Given the description of an element on the screen output the (x, y) to click on. 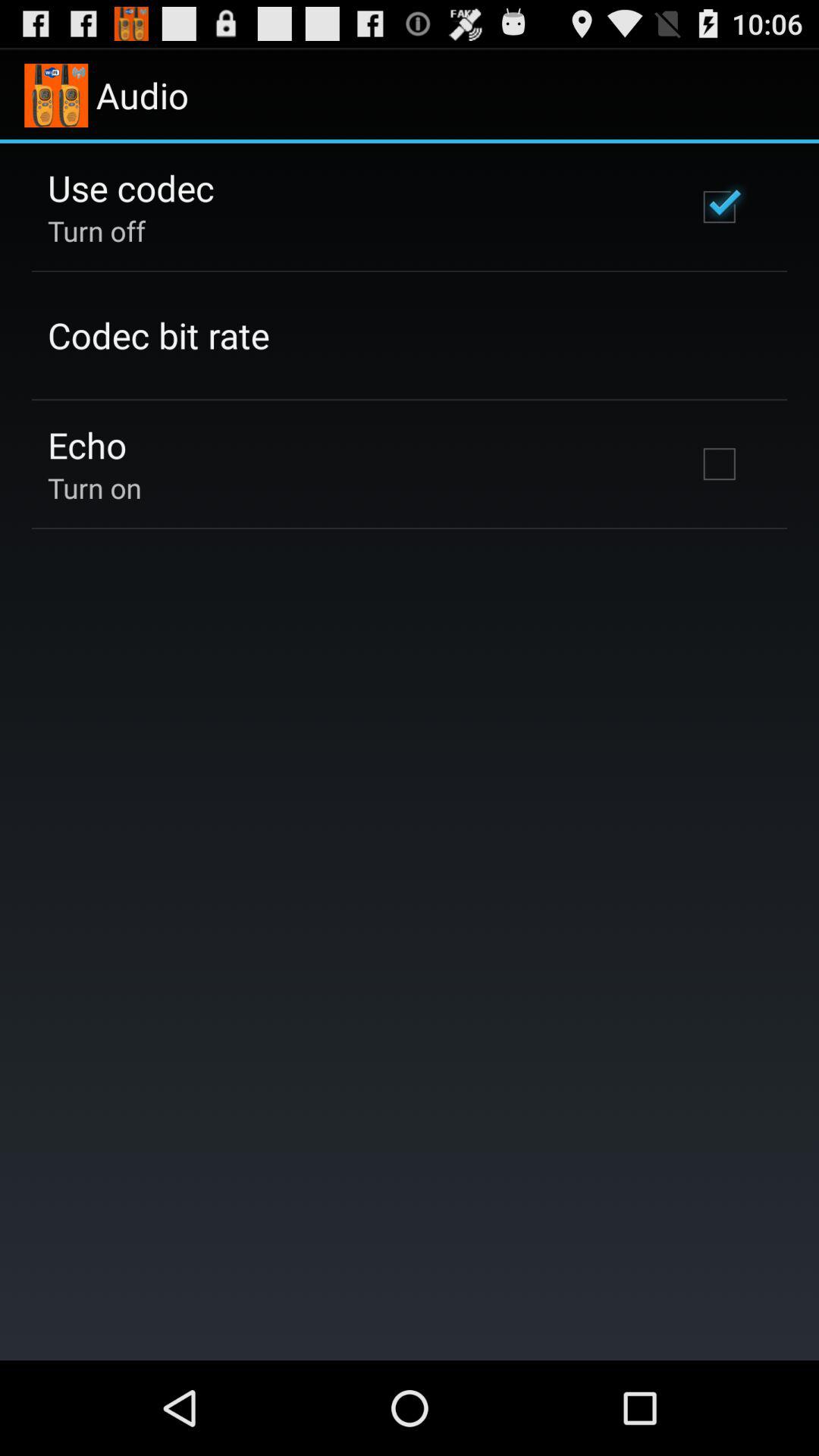
choose the icon on the left (94, 487)
